Given the description of an element on the screen output the (x, y) to click on. 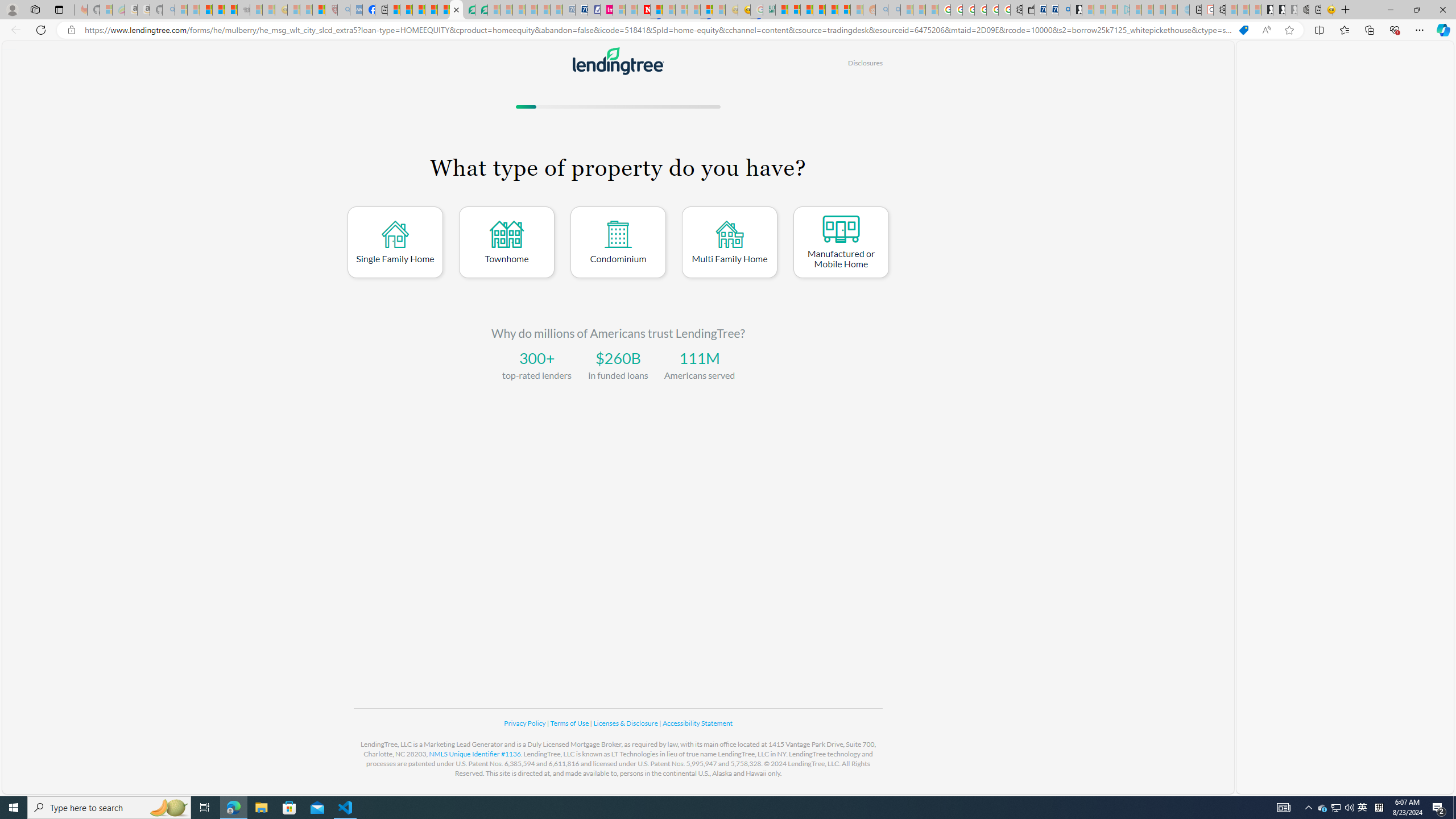
Bing Real Estate - Home sales and rental listings (1063, 9)
